Given the description of an element on the screen output the (x, y) to click on. 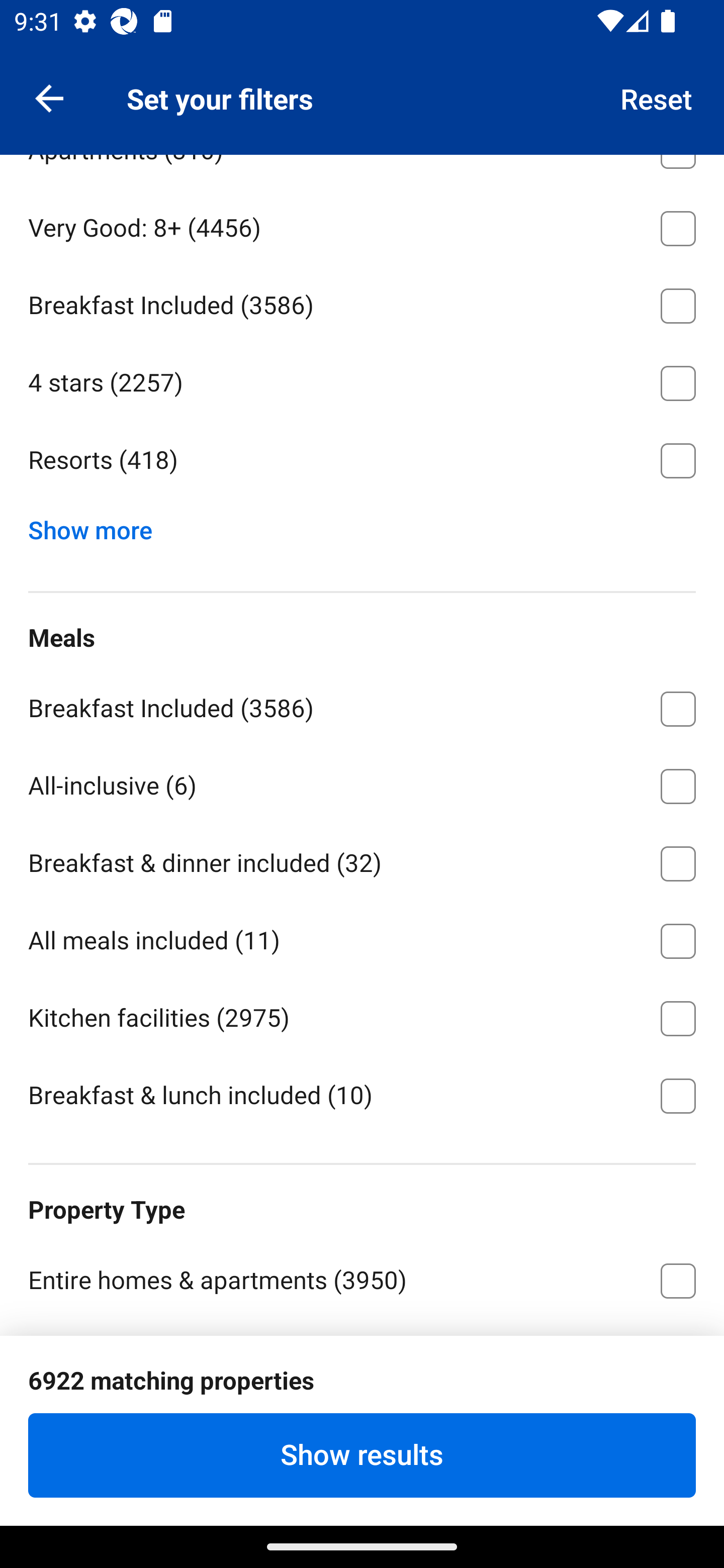
Navigate up (49, 97)
Reset (656, 97)
Very Good: 8+ ⁦(4456) (361, 224)
Breakfast Included ⁦(3586) (361, 302)
4 stars ⁦(2257) (361, 379)
Resorts ⁦(418) (361, 460)
Show more (97, 525)
Breakfast Included ⁦(3586) (361, 705)
All-inclusive ⁦(6) (361, 782)
Breakfast & dinner included ⁦(32) (361, 859)
All meals included ⁦(11) (361, 937)
Kitchen facilities ⁦(2975) (361, 1014)
Breakfast & lunch included ⁦(10) (361, 1094)
Entire homes & apartments ⁦(3950) (361, 1276)
Show results (361, 1454)
